Given the description of an element on the screen output the (x, y) to click on. 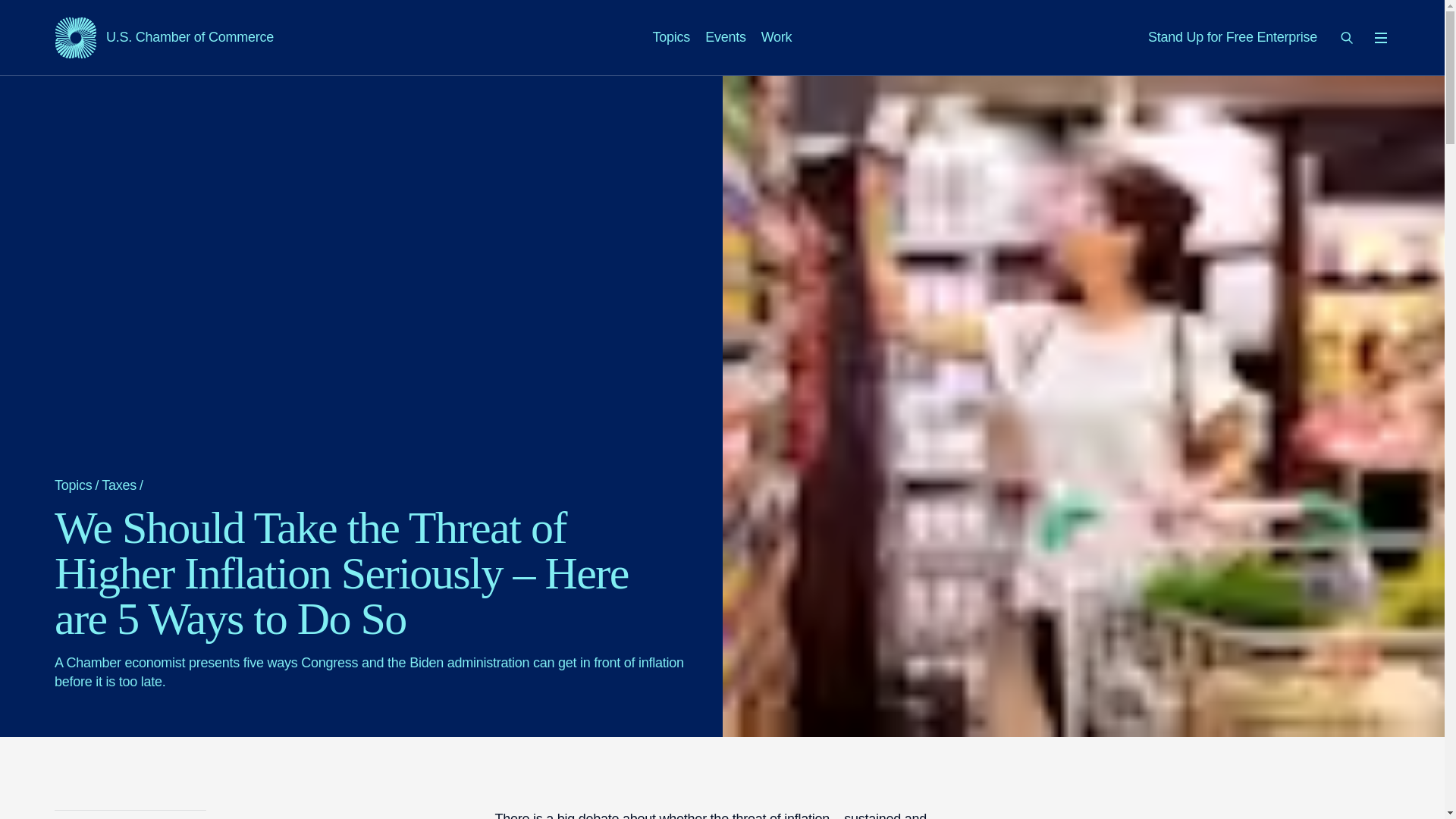
Menu (164, 37)
Stand Up for Free Enterprise (1380, 37)
Site Search (1232, 37)
Events (1347, 37)
Work (724, 36)
Topics (776, 36)
